Given the description of an element on the screen output the (x, y) to click on. 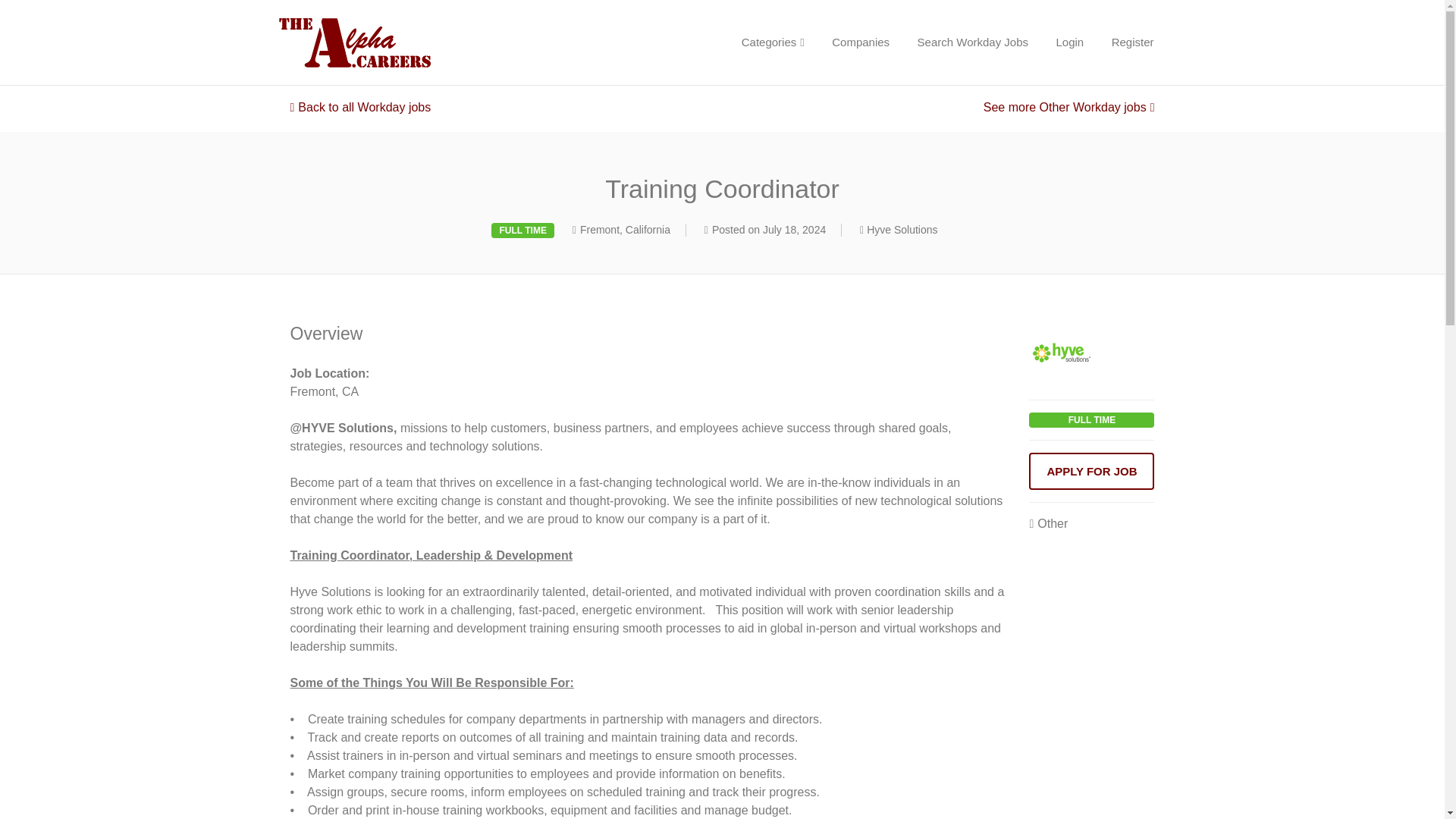
Other (1048, 522)
TheAlpha.Careers (408, 42)
Categories (772, 42)
Search Workday Jobs (973, 42)
Companies (860, 42)
Login (1069, 42)
THEALPHA.CAREERS (408, 42)
Hyve Solutions (901, 229)
APPLY FOR JOB (1091, 470)
Back to all Workday jobs (359, 106)
